Given the description of an element on the screen output the (x, y) to click on. 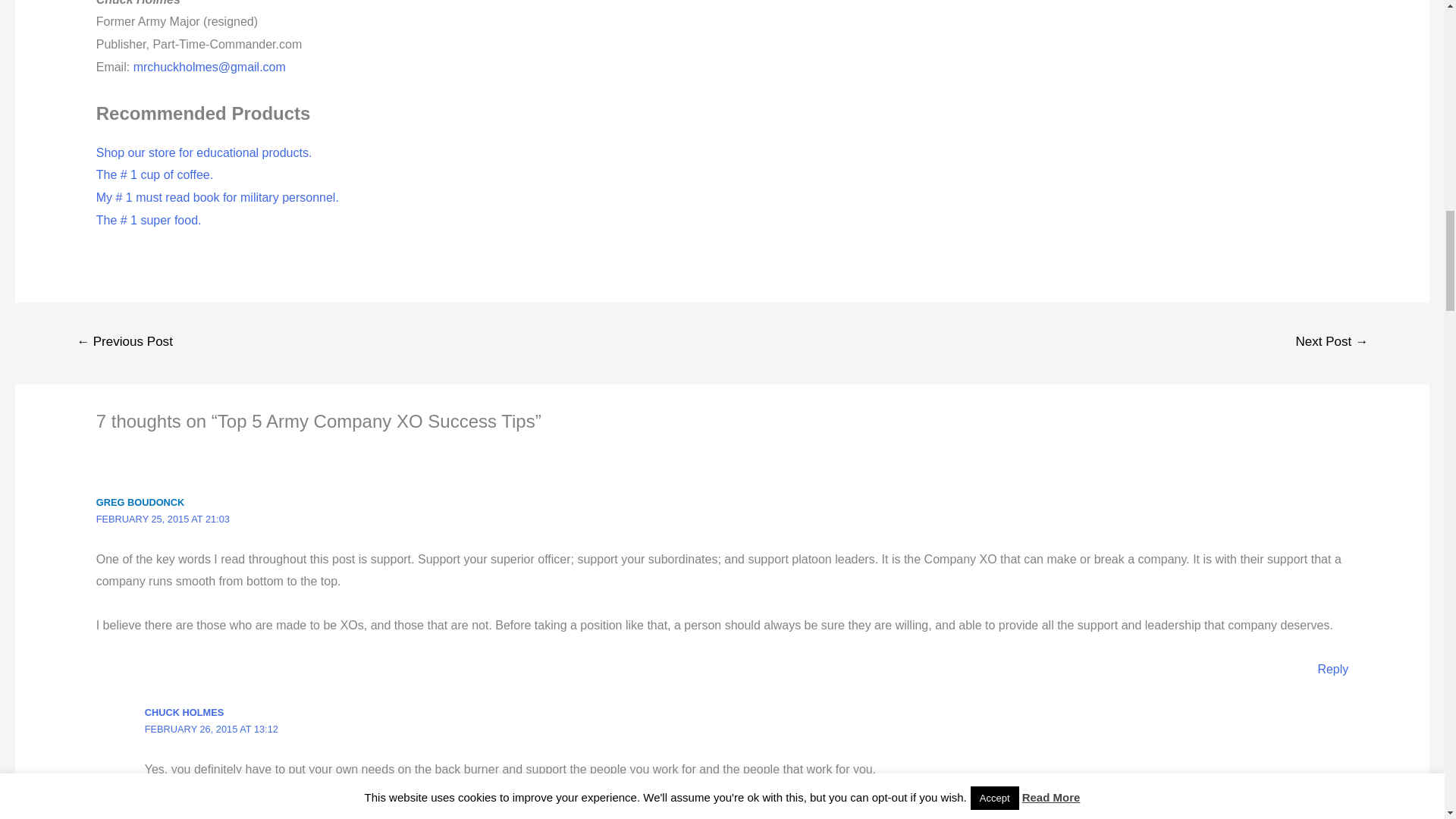
Reply (1332, 668)
Shop our store for educational products. (204, 152)
FEBRUARY 25, 2015 AT 21:03 (163, 518)
